Given the description of an element on the screen output the (x, y) to click on. 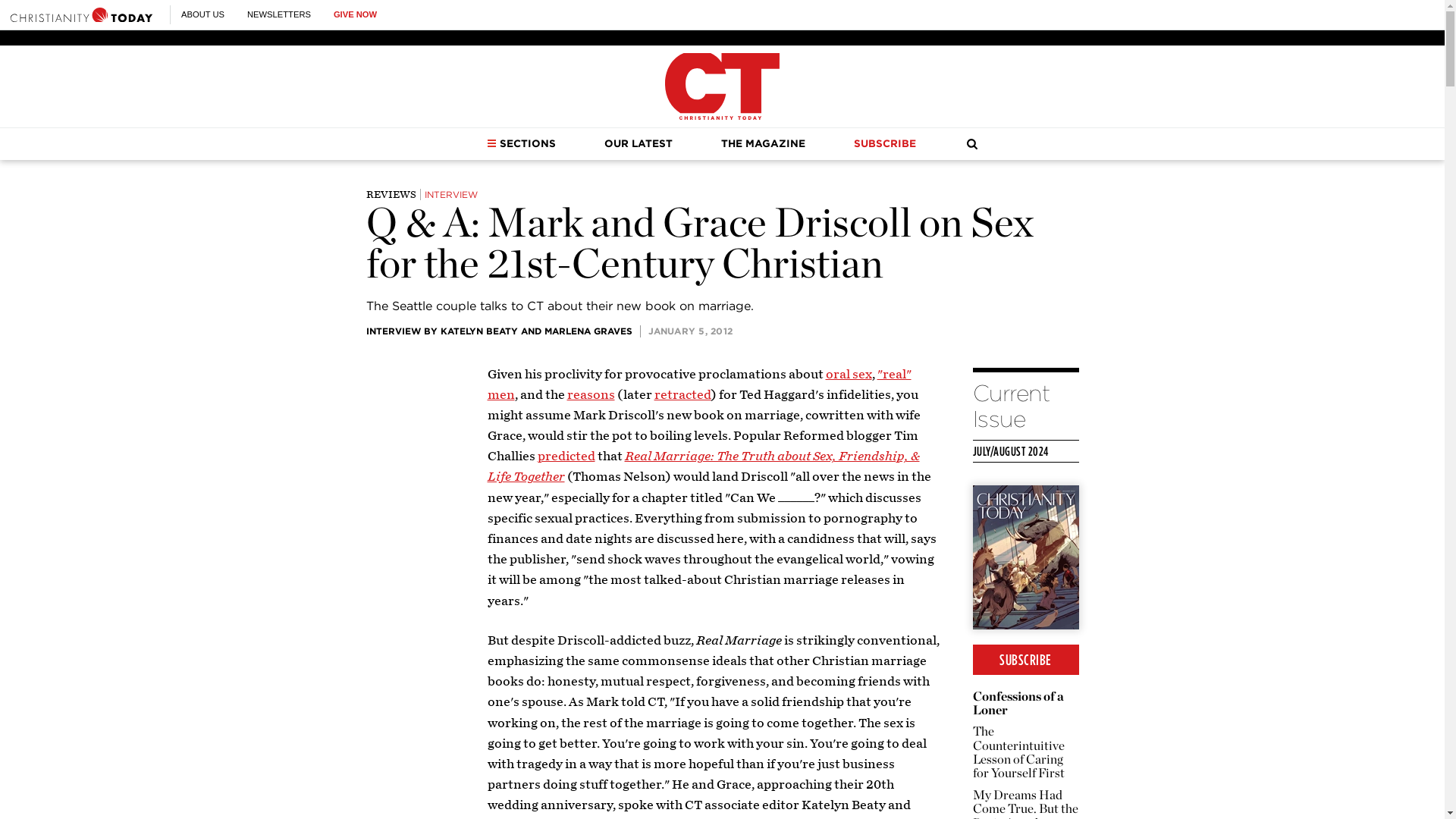
Christianity Today (721, 86)
GIVE NOW (355, 14)
Christianity Today (81, 14)
Sections Dropdown (491, 143)
ABOUT US (202, 14)
NEWSLETTERS (278, 14)
SECTIONS (521, 143)
